Given the description of an element on the screen output the (x, y) to click on. 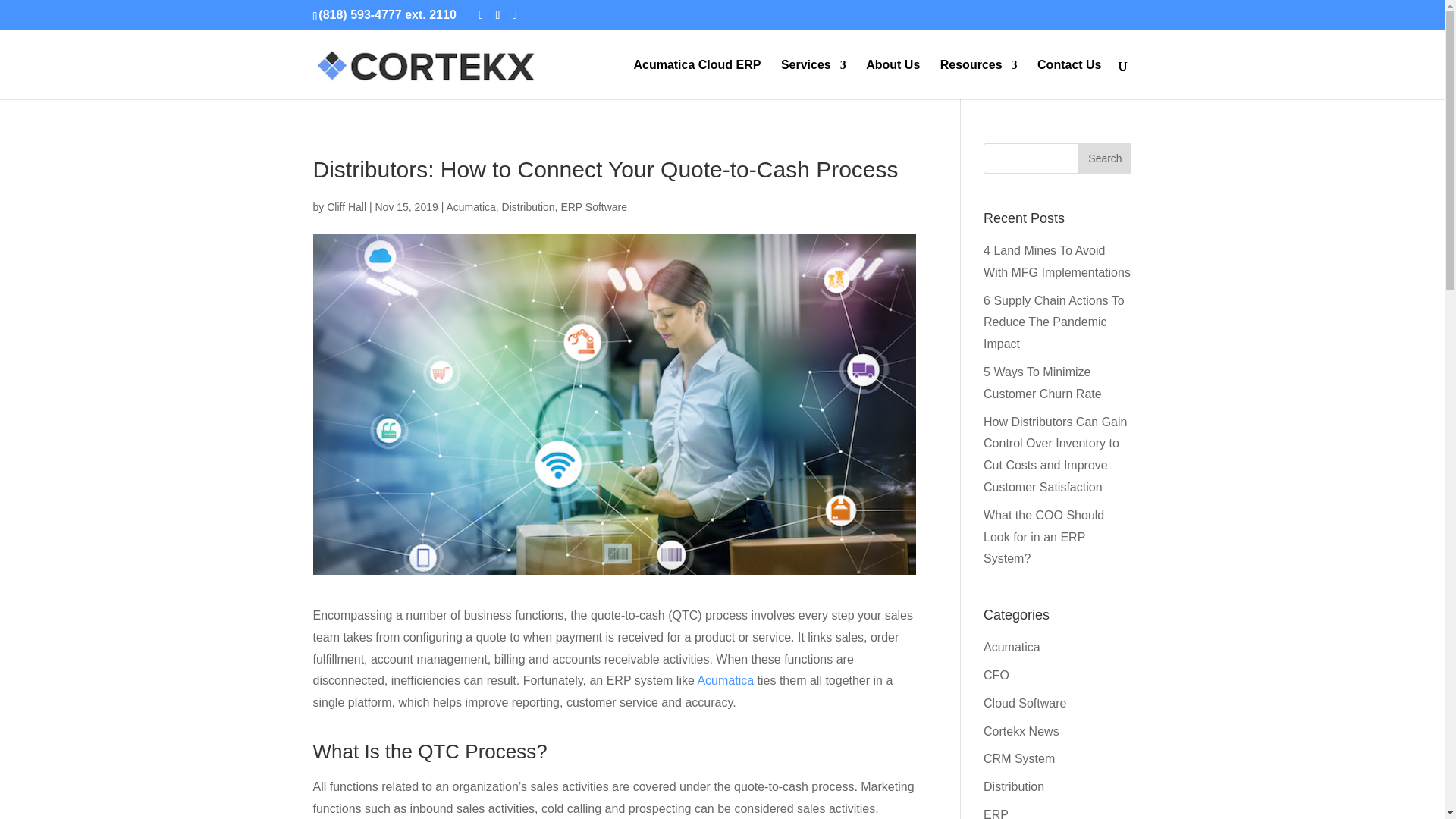
ERP Software (593, 206)
Posts by Cliff Hall (346, 206)
Cliff Hall (346, 206)
Contact Us (1068, 79)
Distribution (528, 206)
Services (812, 79)
Resources (978, 79)
About Us (893, 79)
Acumatica (470, 206)
Acumatica Cloud ERP (696, 79)
Acumatica (725, 680)
Search (1104, 158)
